Given the description of an element on the screen output the (x, y) to click on. 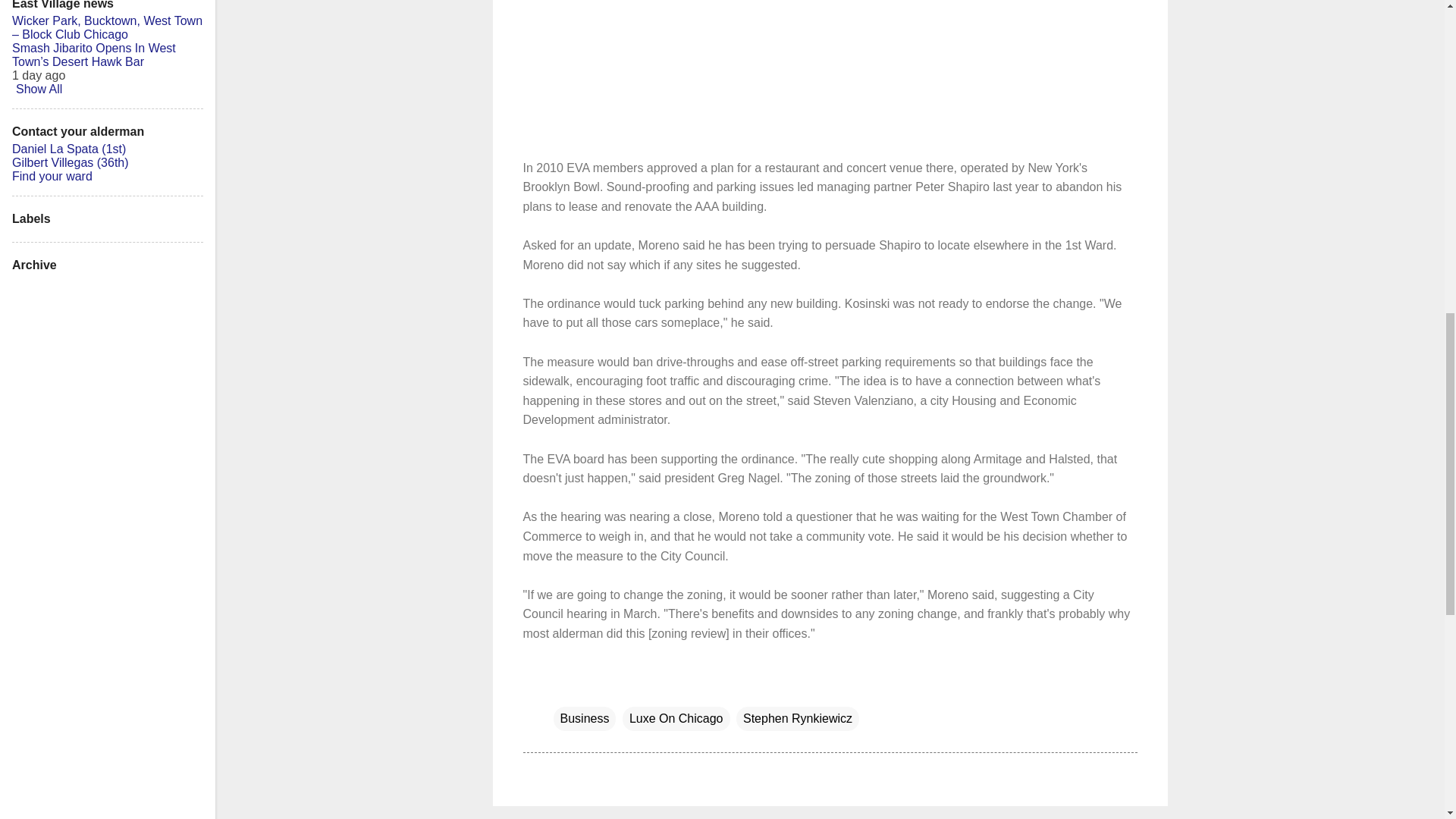
Email Post (562, 686)
Stephen Rynkiewicz (797, 718)
Luxe On Chicago (676, 718)
Business (584, 718)
